Given the description of an element on the screen output the (x, y) to click on. 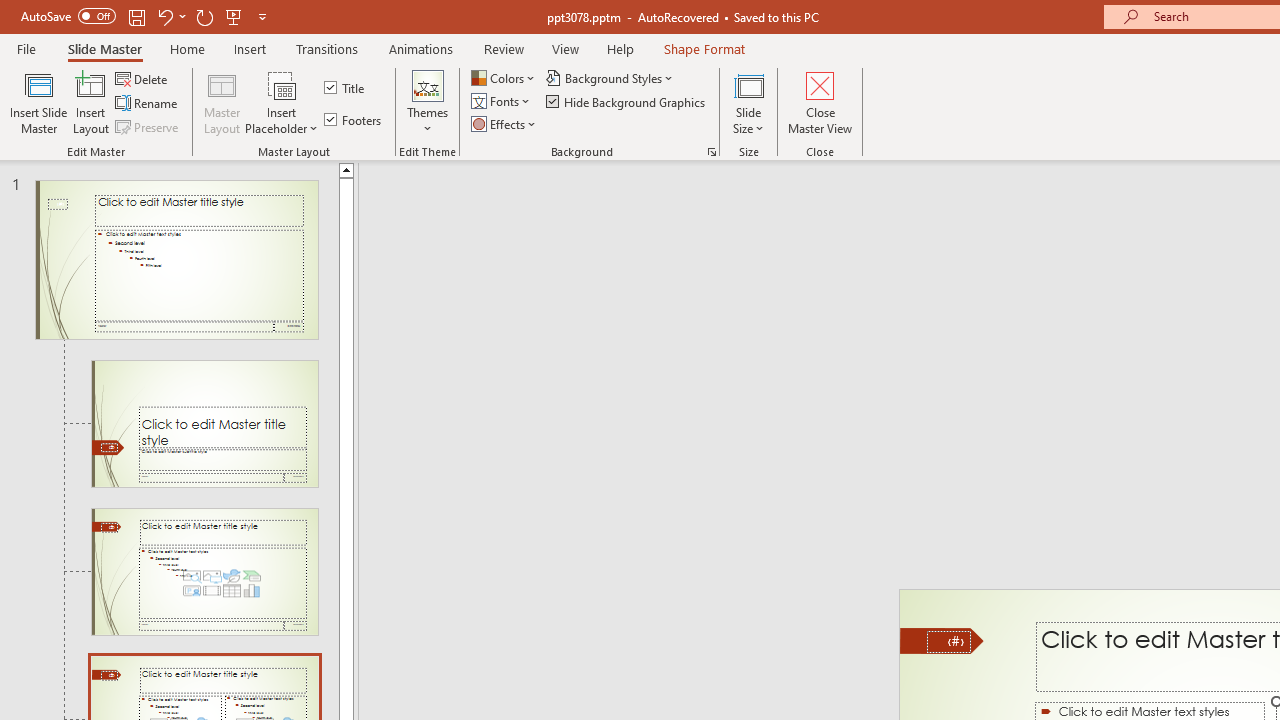
Colors (504, 78)
Slide Number (948, 641)
